Given the description of an element on the screen output the (x, y) to click on. 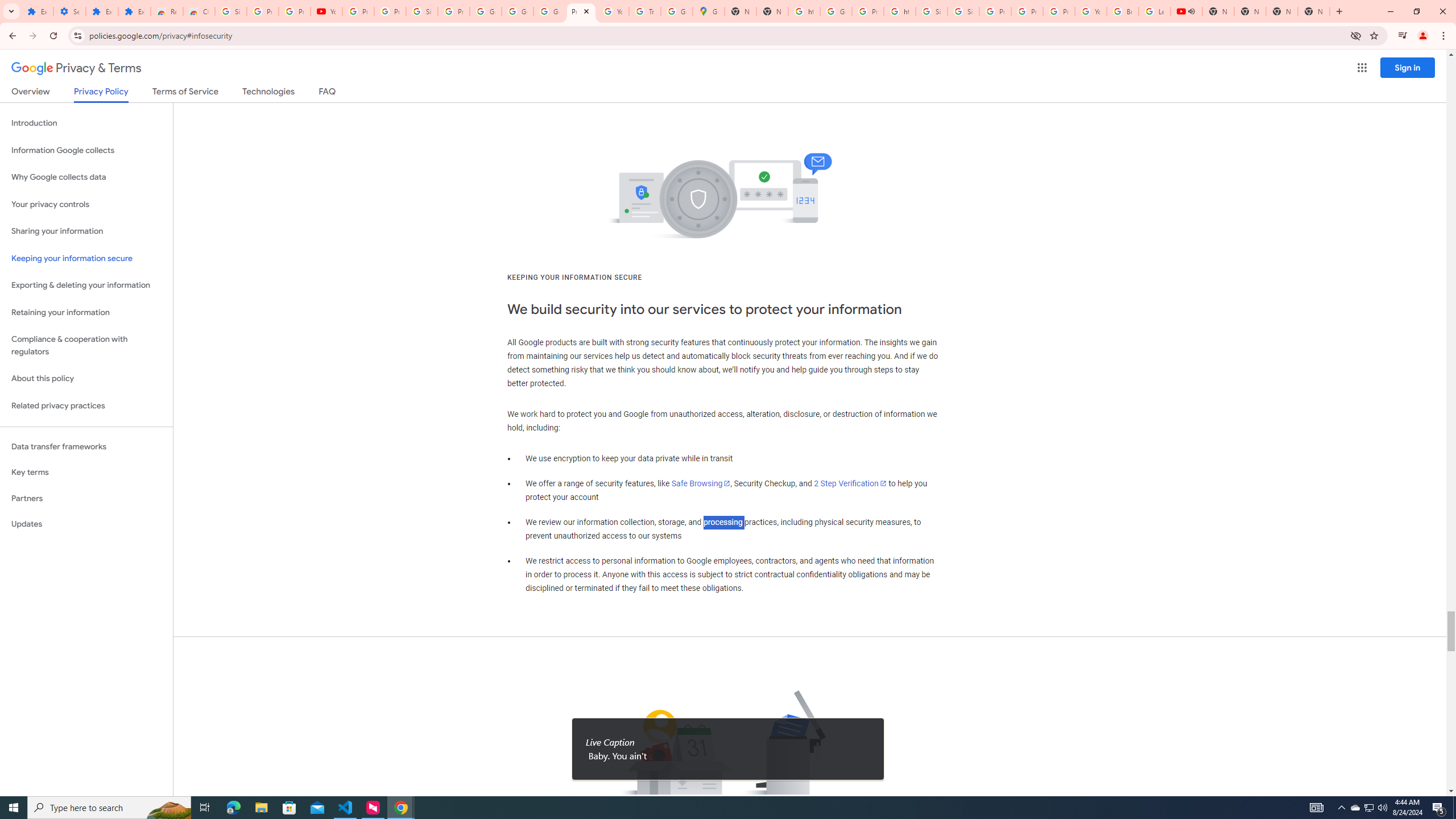
Control your music, videos, and more (1402, 35)
About this policy (86, 379)
Browse Chrome as a guest - Computer - Google Chrome Help (1123, 11)
Sign in - Google Accounts (931, 11)
Google apps (1362, 67)
Privacy & Terms (76, 68)
Retaining your information (86, 312)
Information Google collects (86, 150)
